Given the description of an element on the screen output the (x, y) to click on. 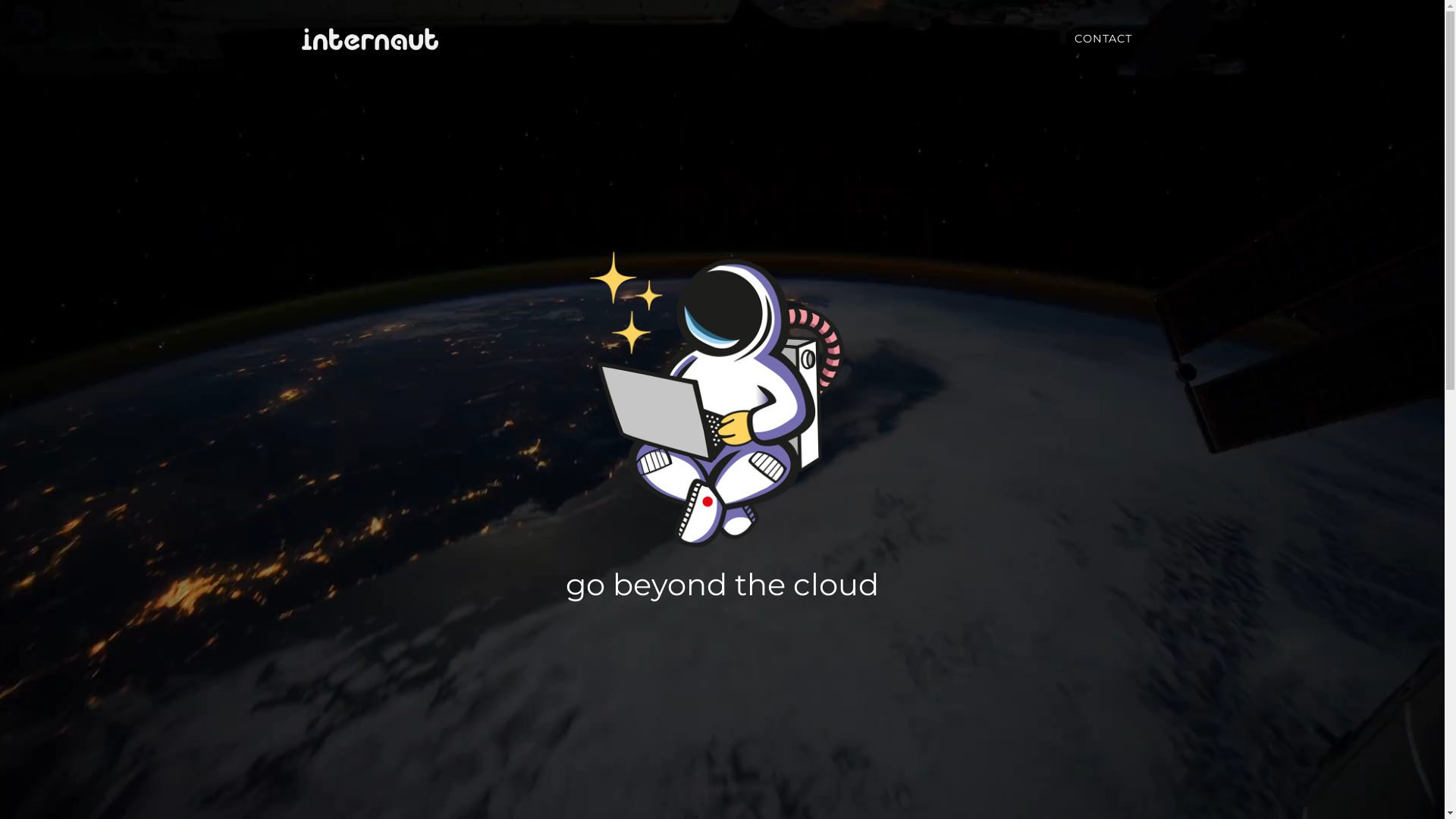
CONTACT Element type: text (1103, 38)
